Given the description of an element on the screen output the (x, y) to click on. 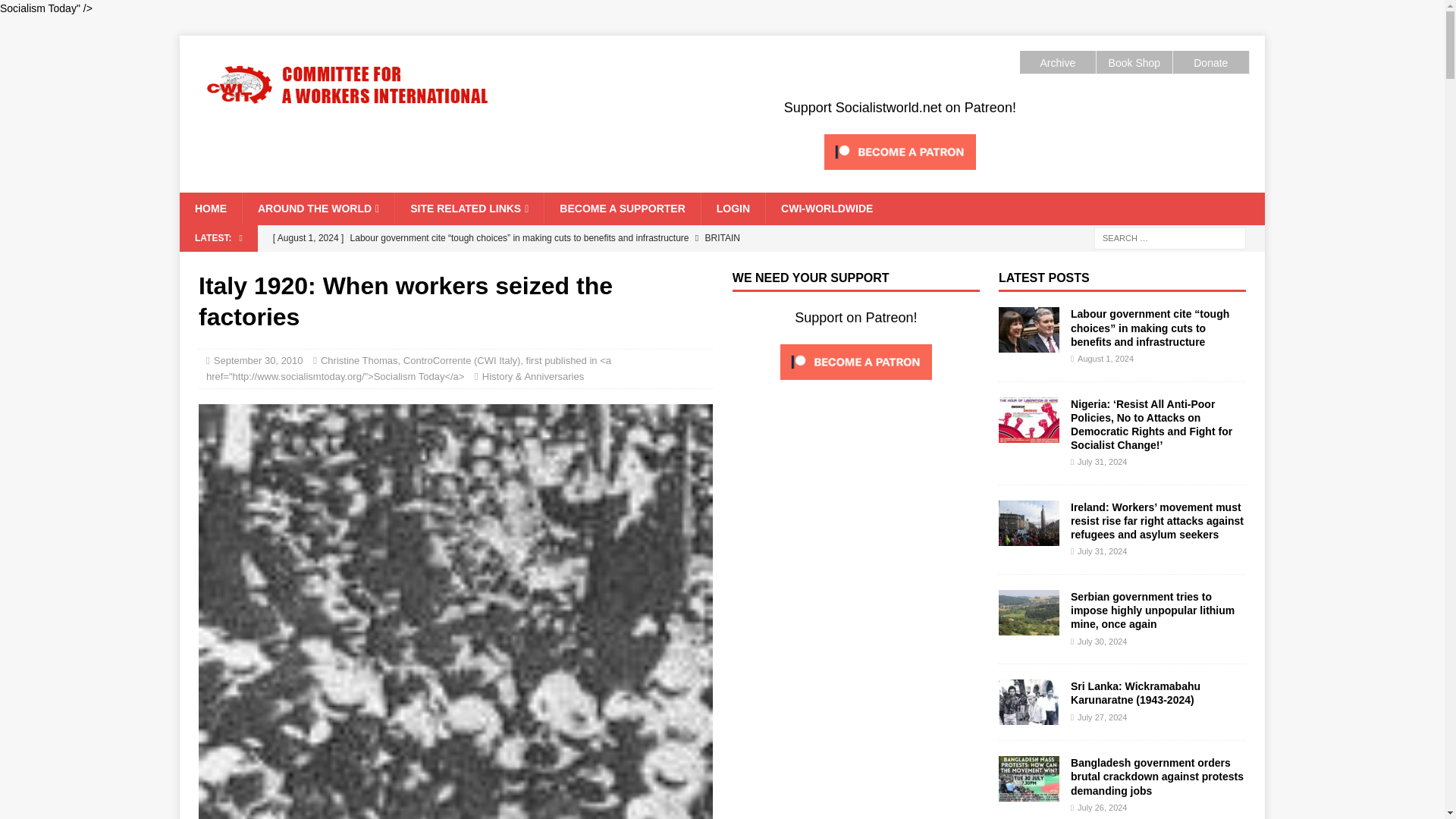
Archive (1057, 62)
Donate (1210, 62)
Book Shop (1134, 62)
